Given the description of an element on the screen output the (x, y) to click on. 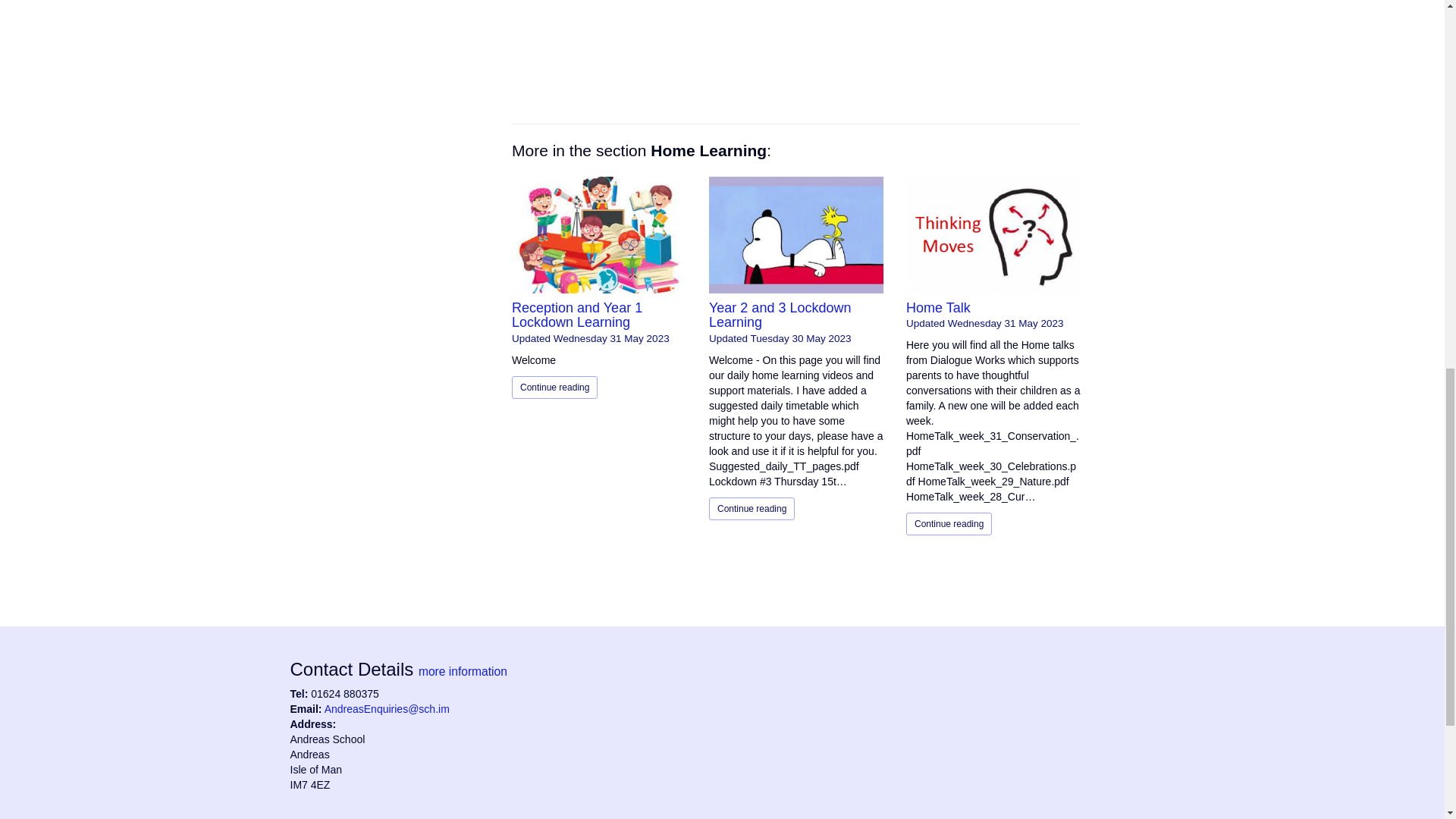
Continue reading (948, 523)
Continue reading (554, 386)
more information (462, 671)
Year 2 and 3 Lockdown Learning (779, 315)
Reception and Year 1 Lockdown Learning (577, 315)
Home Talk (938, 307)
Continue reading (751, 508)
